Given the description of an element on the screen output the (x, y) to click on. 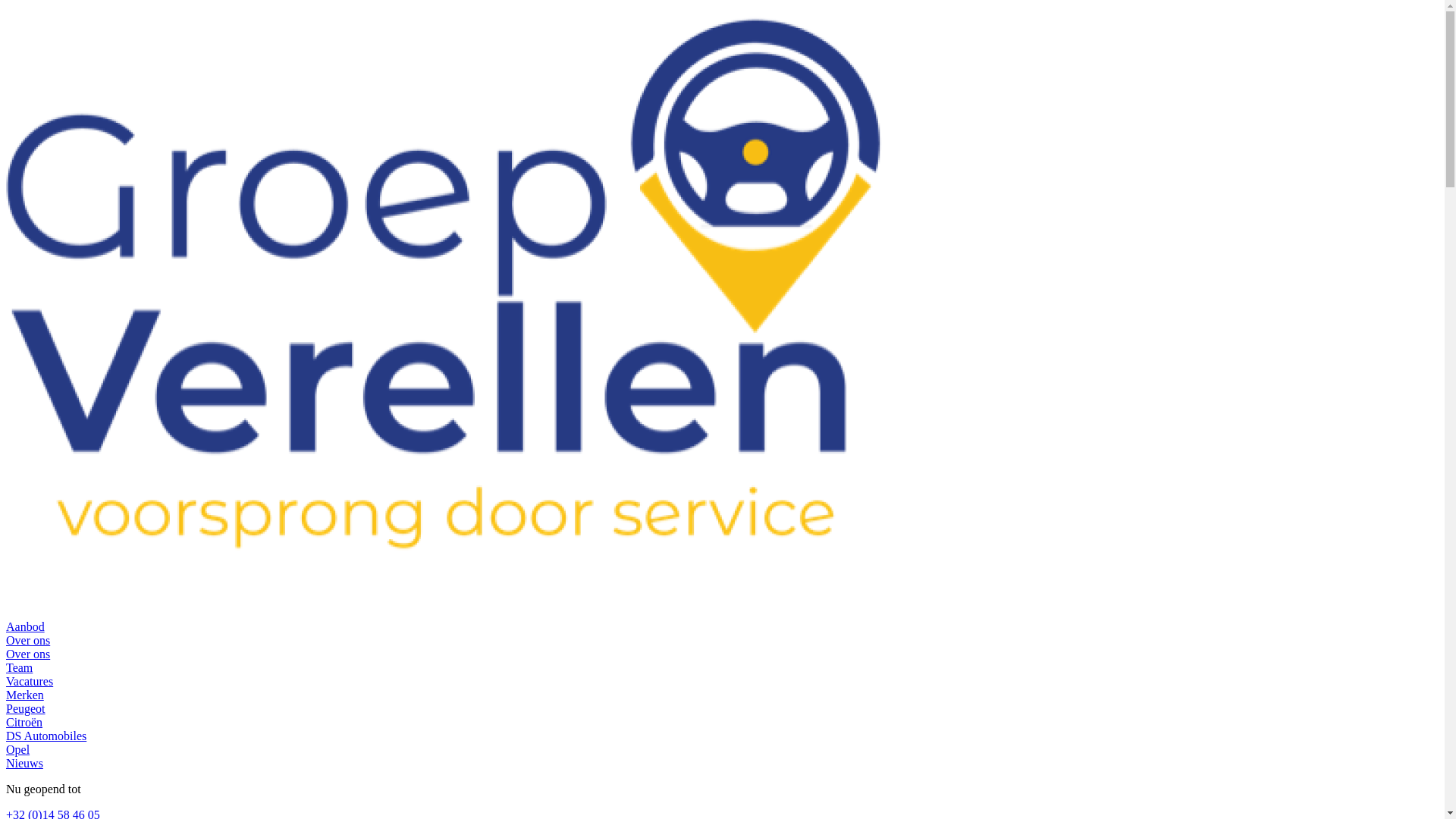
Peugeot Element type: text (25, 708)
Merken Element type: text (24, 694)
Team Element type: text (19, 667)
Over ons Element type: text (28, 653)
Nieuws Element type: text (24, 762)
Over ons Element type: text (28, 639)
DS Automobiles Element type: text (46, 735)
Vacatures Element type: text (29, 680)
Skip to content Element type: text (5, 5)
Opel Element type: text (17, 749)
Aanbod Element type: text (25, 626)
